Given the description of an element on the screen output the (x, y) to click on. 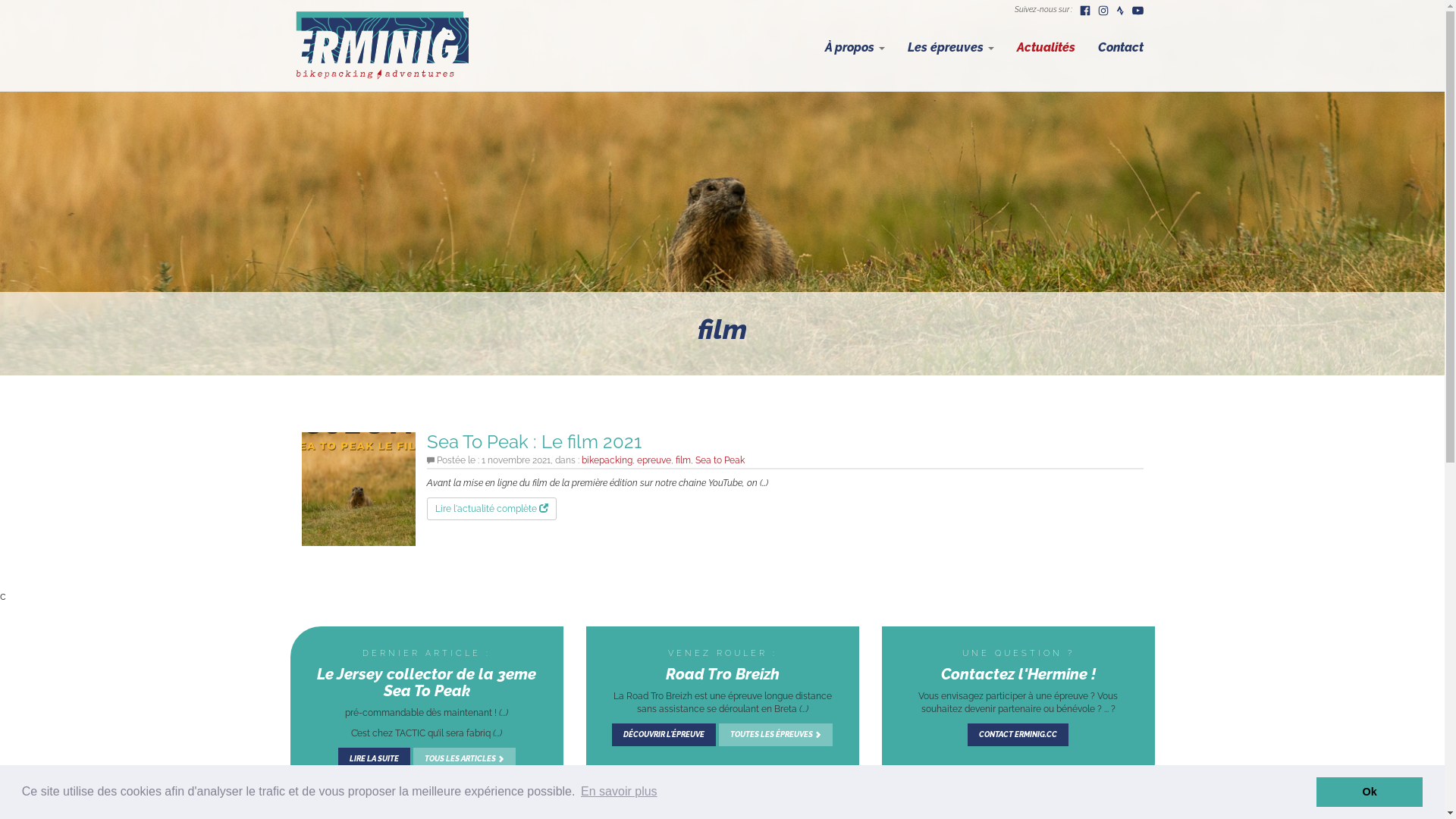
CONTACT ERMINIG.CC Element type: text (1017, 734)
TOUS LES ARTICLES Element type: text (463, 758)
epreuve Element type: text (654, 460)
Ok Element type: text (1369, 791)
Contact Element type: text (1119, 47)
bikepacking Element type: text (605, 460)
En savoir plus Element type: text (618, 791)
Sea To Peak : Le film 2021 Element type: hover (358, 488)
film Element type: text (682, 460)
LIRE LA SUITE Element type: text (374, 758)
Sea To Peak : Le film 2021 Element type: text (533, 441)
Sea to Peak Element type: text (718, 460)
